Given the description of an element on the screen output the (x, y) to click on. 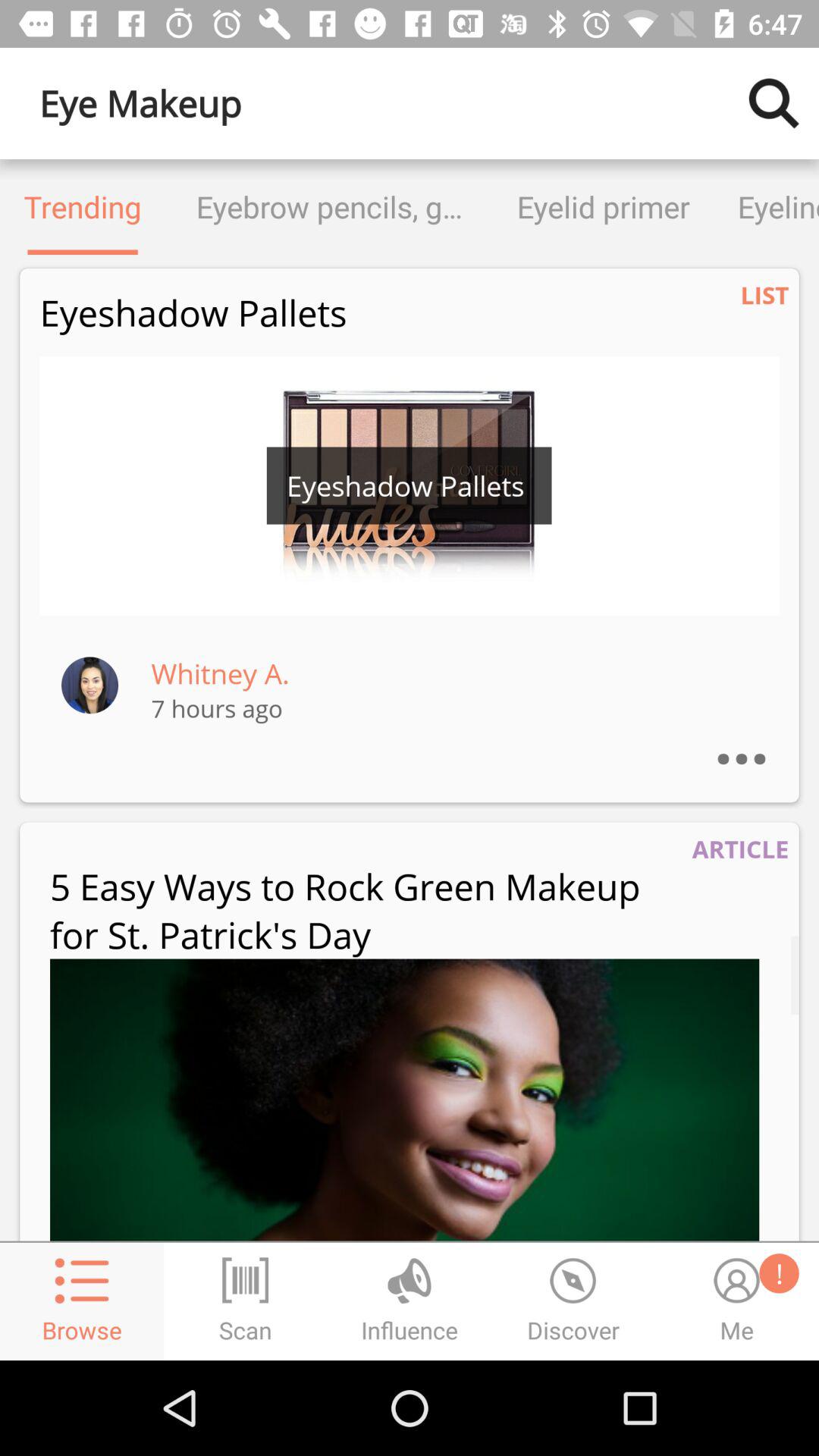
click trending (82, 206)
